Given the description of an element on the screen output the (x, y) to click on. 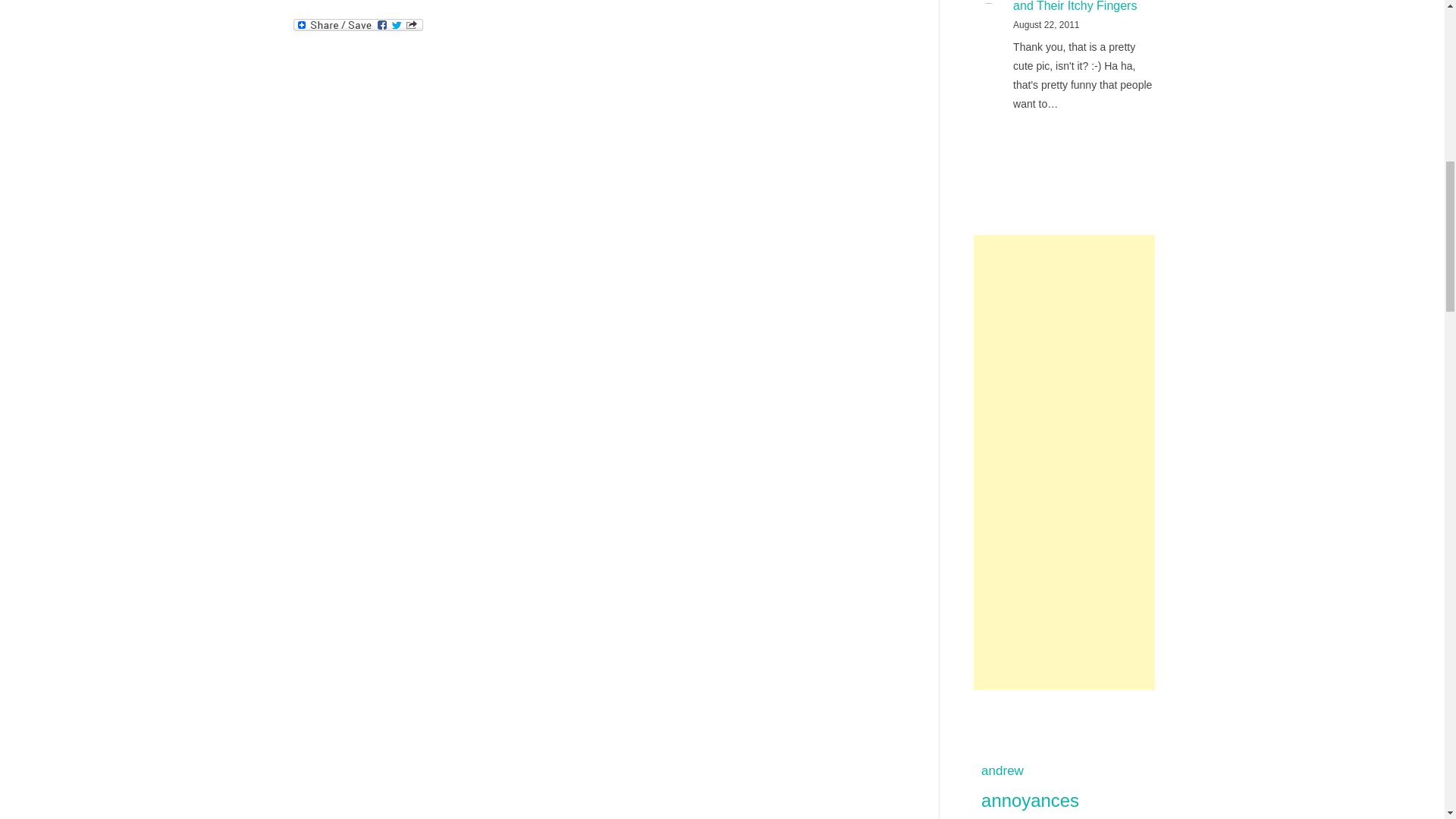
annoyances (1062, 800)
andrew (1062, 771)
The Baby Pokers and Their Itchy Fingers (1079, 6)
